Given the description of an element on the screen output the (x, y) to click on. 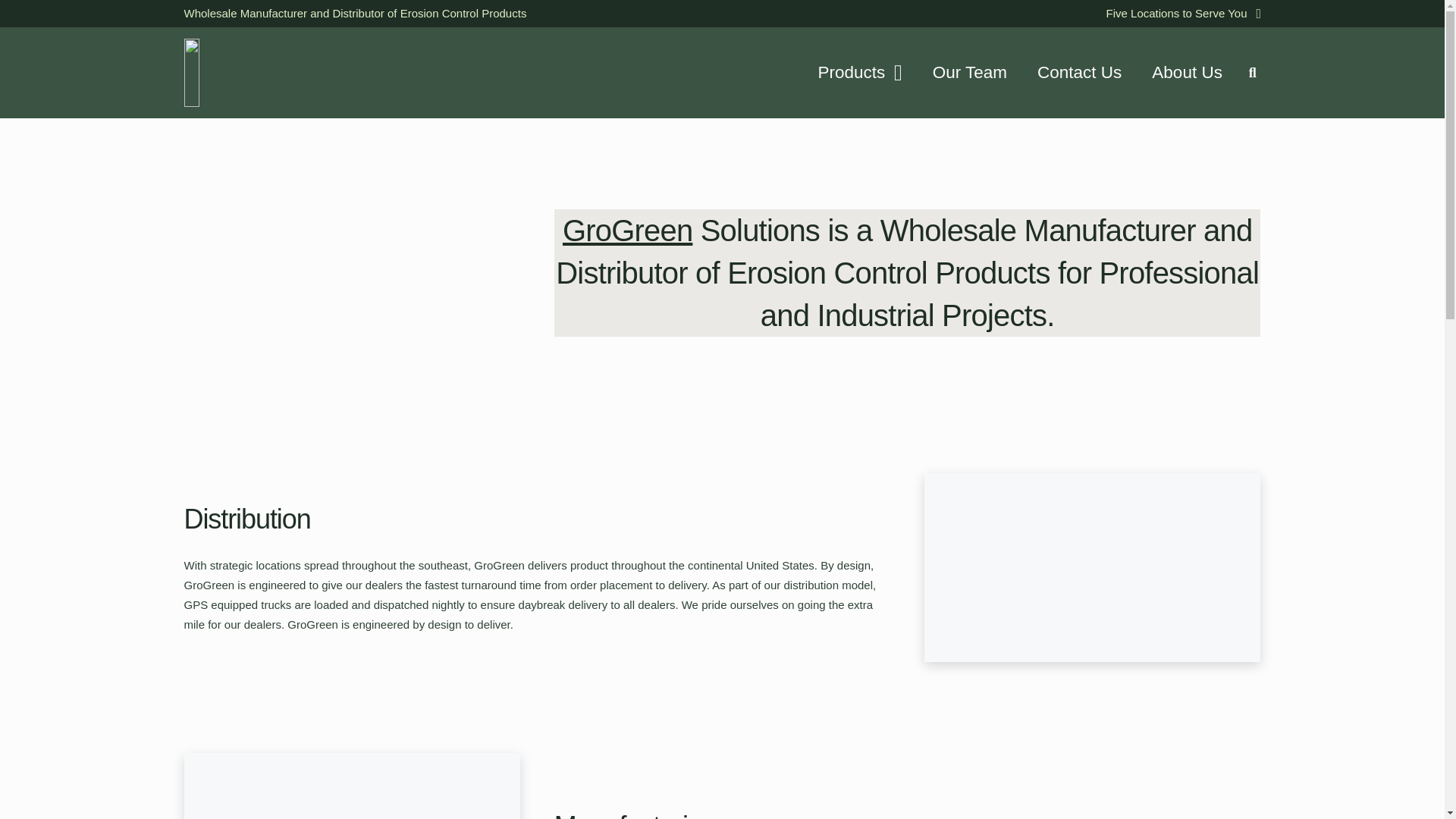
Products (859, 72)
Five Locations to Serve You (1183, 13)
